Given the description of an element on the screen output the (x, y) to click on. 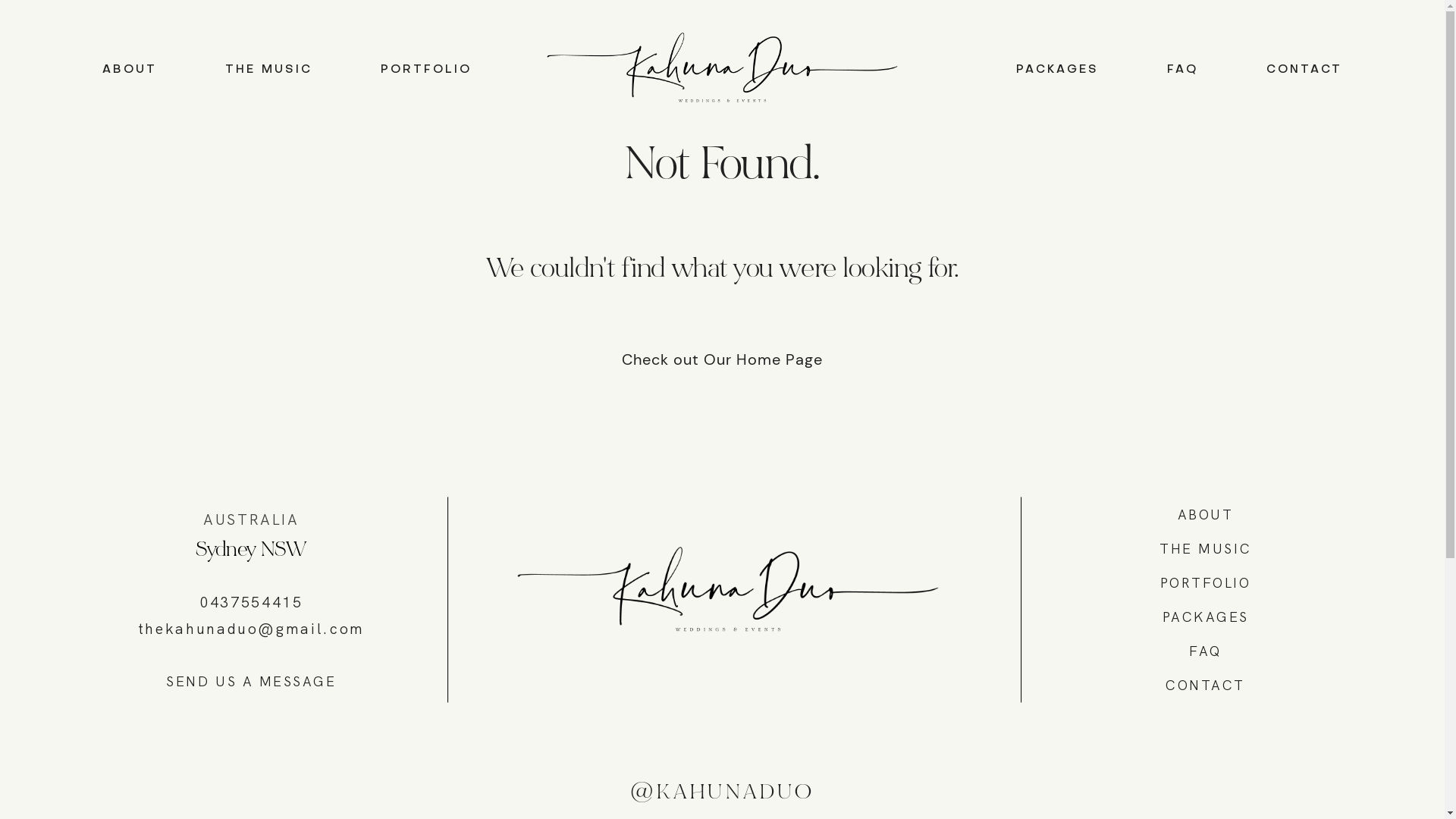
PORTFOLIO Element type: text (425, 69)
ABOUT Element type: text (1205, 514)
SEND US A MESSAGE Element type: text (250, 681)
FAQ Element type: text (1205, 650)
THE MUSIC Element type: text (268, 69)
Check out Our Home Page Element type: text (721, 359)
CONTACT Element type: text (1304, 69)
PACKAGES Element type: text (1205, 616)
PORTFOLIO Element type: text (1205, 582)
PACKAGES Element type: text (1057, 69)
ABOUT Element type: text (129, 69)
THE MUSIC Element type: text (1205, 548)
FAQ Element type: text (1182, 69)
CONTACT Element type: text (1205, 684)
